Given the description of an element on the screen output the (x, y) to click on. 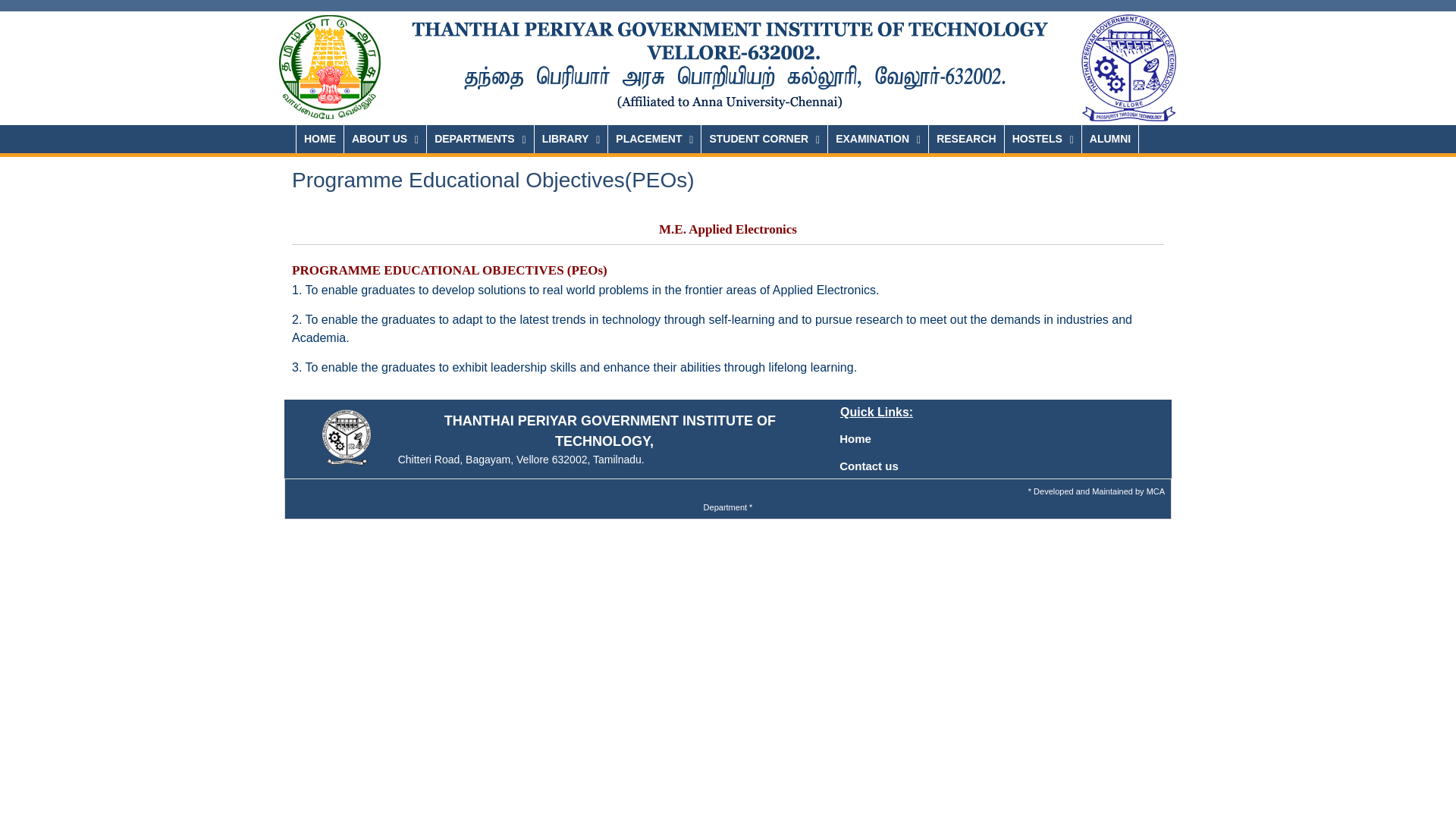
DEPARTMENTS (480, 139)
HOME (319, 139)
ABOUT US (384, 139)
